Given the description of an element on the screen output the (x, y) to click on. 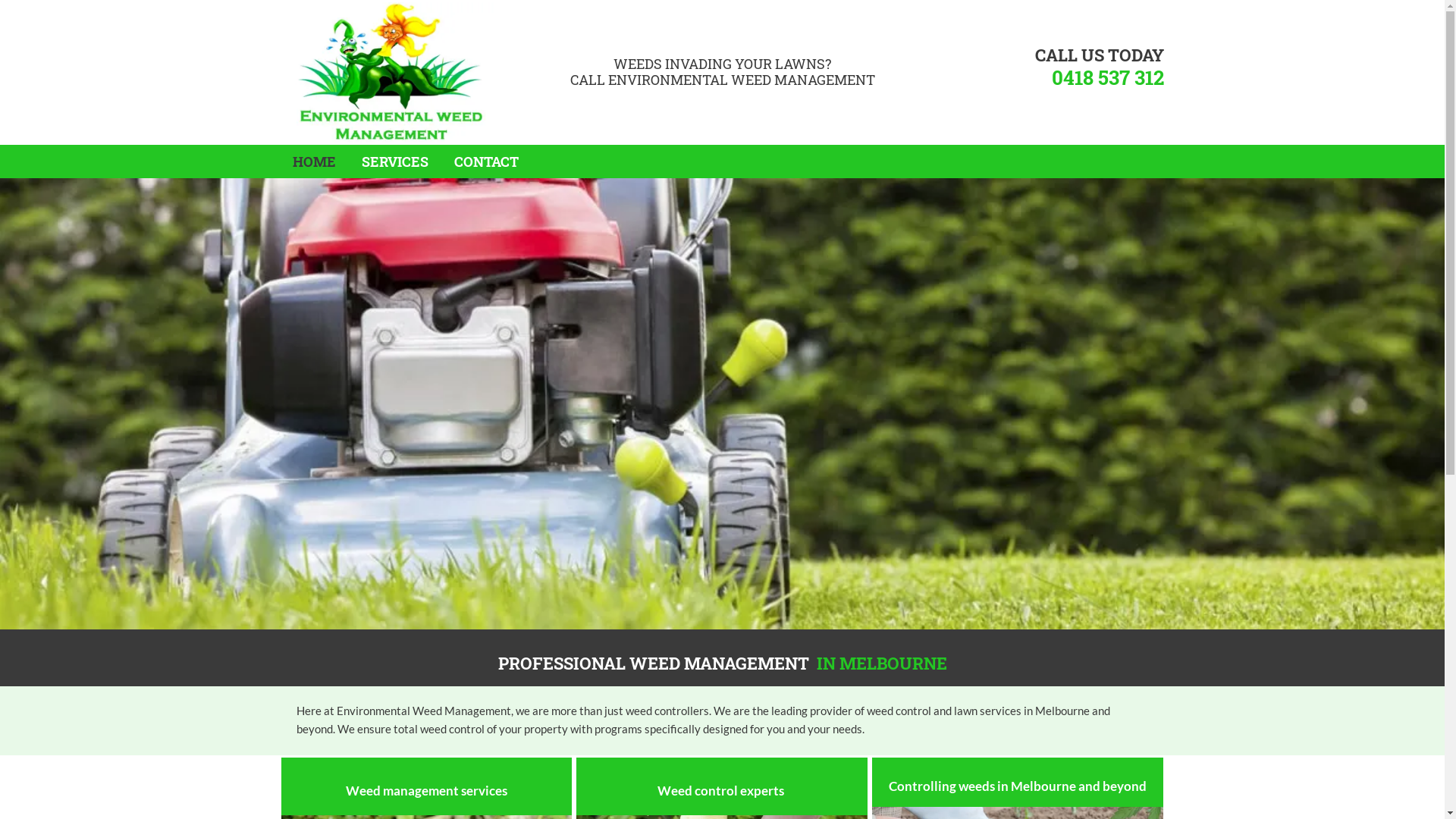
CONTACT Element type: text (485, 161)
HOME Element type: text (313, 161)
environmental weed management Element type: hover (389, 72)
SERVICES Element type: text (393, 161)
0418 537 312 Element type: text (1107, 76)
environmental weed management mowing grass Element type: hover (722, 403)
